Given the description of an element on the screen output the (x, y) to click on. 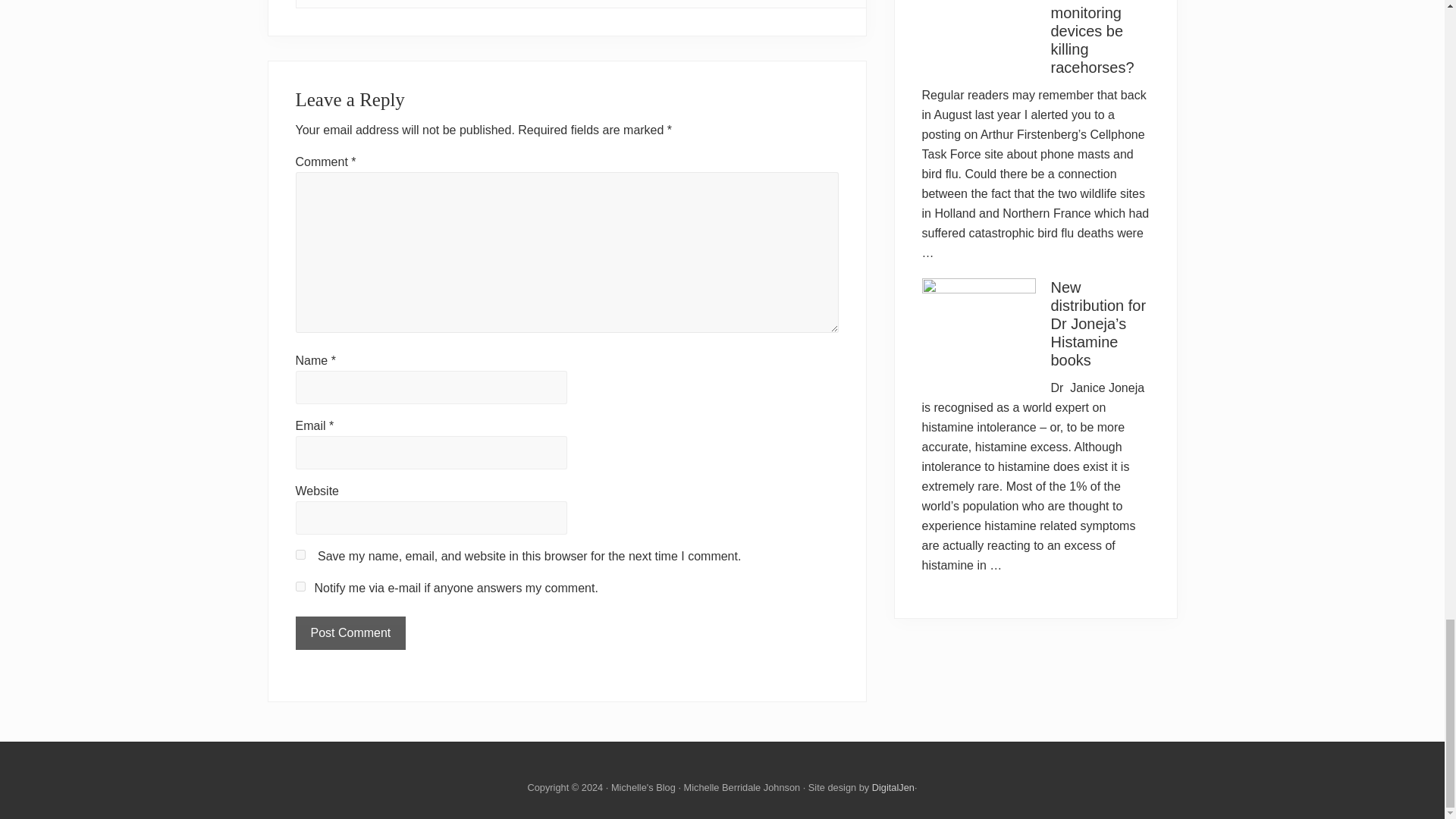
Post Comment (350, 633)
yes (300, 554)
on (300, 586)
